Given the description of an element on the screen output the (x, y) to click on. 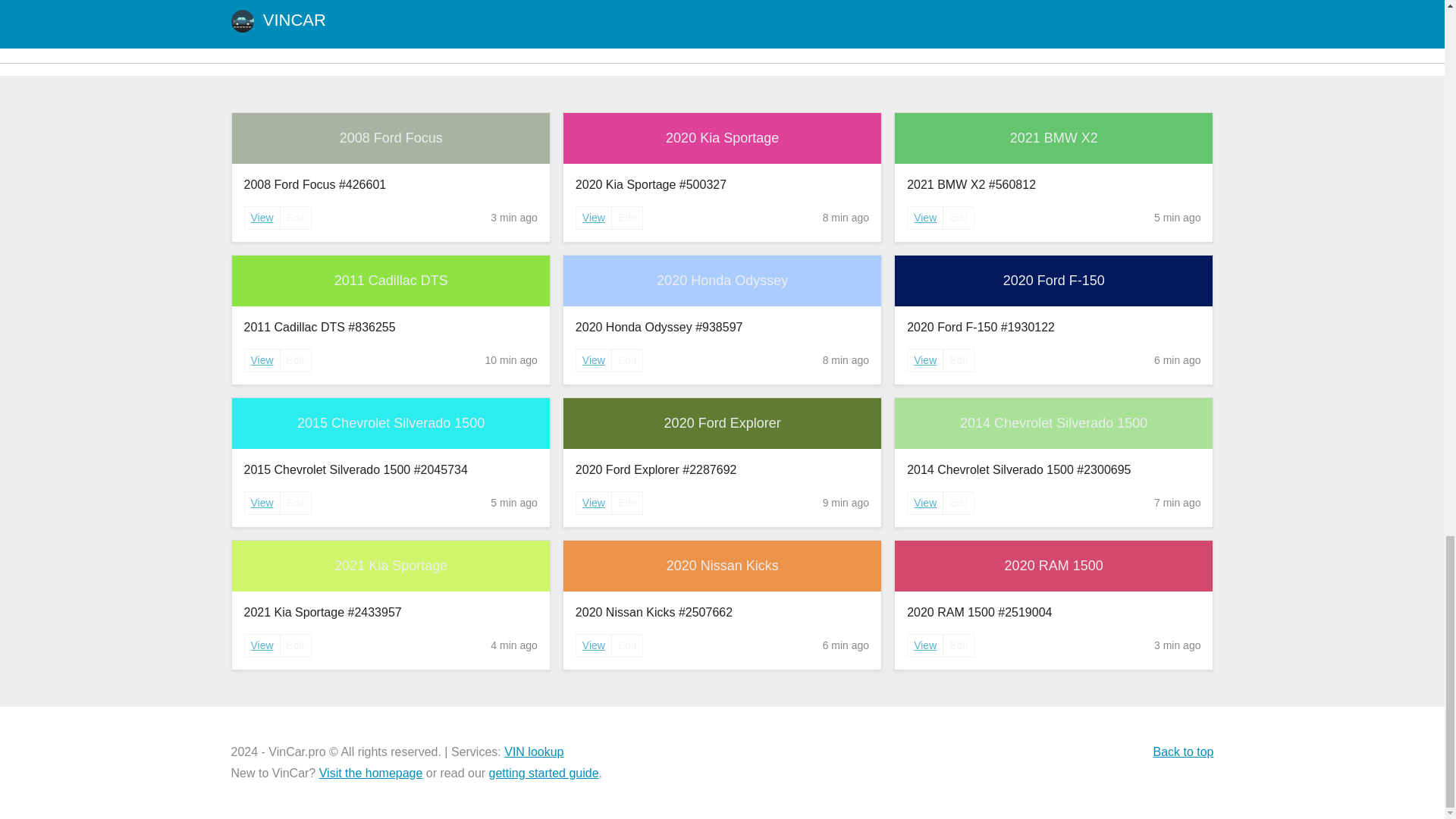
View (593, 218)
2020 RAM 1500 (1053, 565)
View (925, 359)
View (593, 503)
View (593, 217)
Edit (958, 360)
2012 Volkswagen TIGUAN problems (411, 22)
View (925, 502)
View (261, 217)
2015 Chevrolet Silverado 1500 (390, 423)
View (261, 359)
Edit (627, 360)
View (593, 360)
2020 Kia Sportage (721, 138)
2012 Volkswagen TIGUAN problems (411, 22)
